Given the description of an element on the screen output the (x, y) to click on. 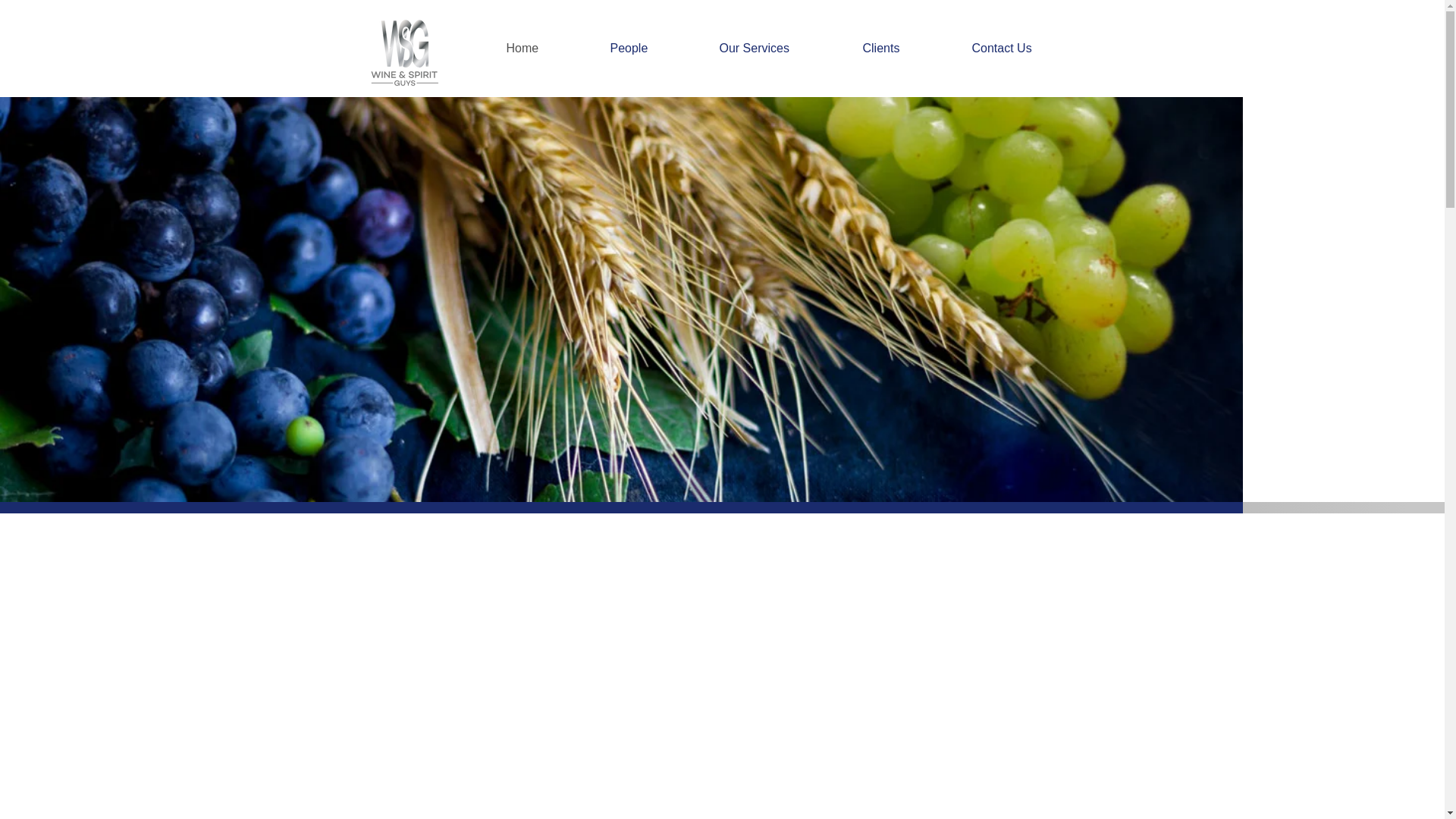
Home (546, 48)
Our Services (779, 48)
Contact Us (1026, 48)
People (652, 48)
Clients (904, 48)
